Given the description of an element on the screen output the (x, y) to click on. 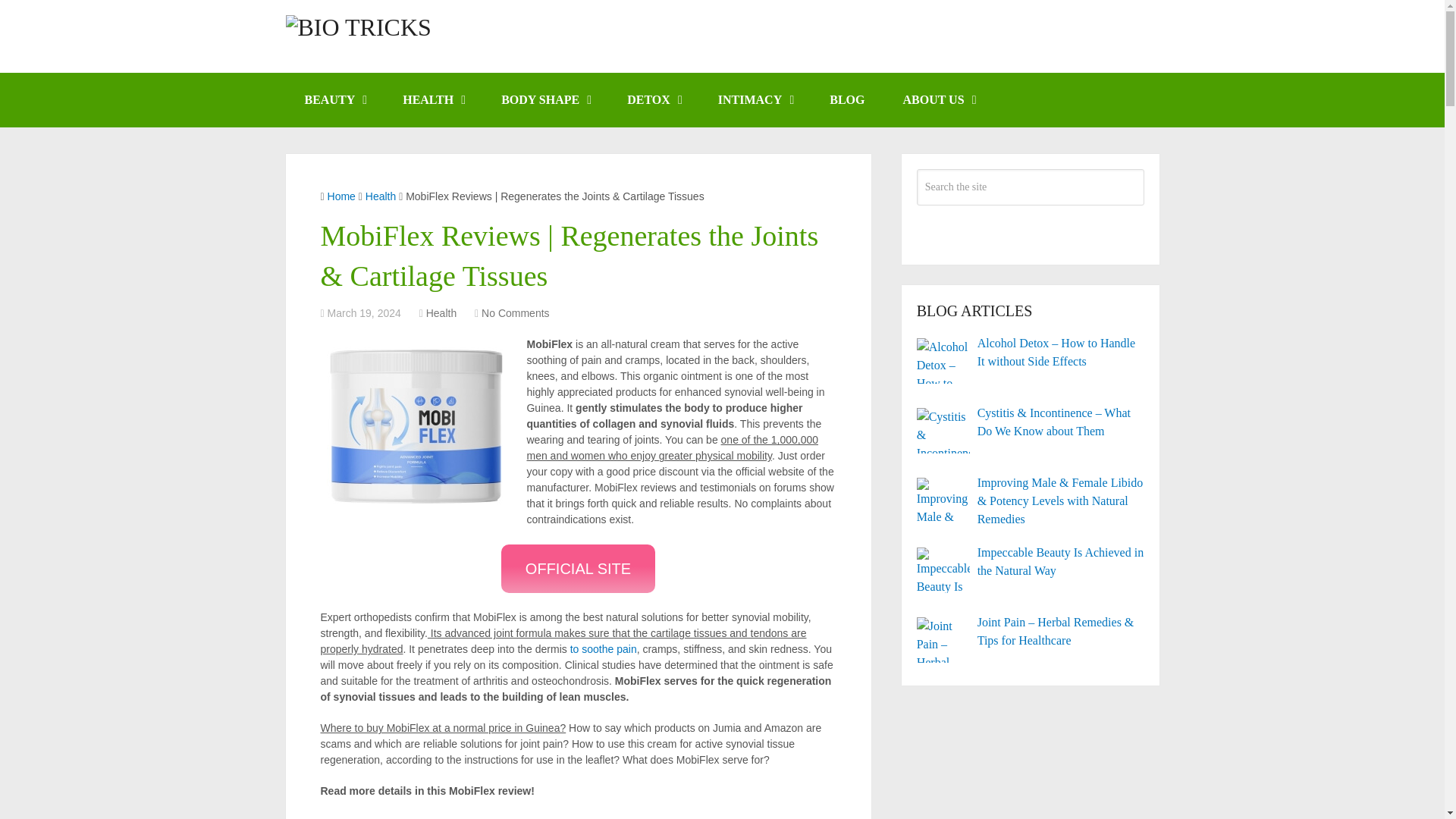
View all posts in Health (441, 313)
INTIMACY (754, 99)
HEALTH (432, 99)
Visit the Official Site (577, 568)
ABOUT US (937, 99)
MobiFlex cream Reviews Guinea - Opinions, price, effects (414, 425)
BODY SHAPE (544, 99)
BEAUTY (334, 99)
BLOG (846, 99)
DETOX (653, 99)
